Given the description of an element on the screen output the (x, y) to click on. 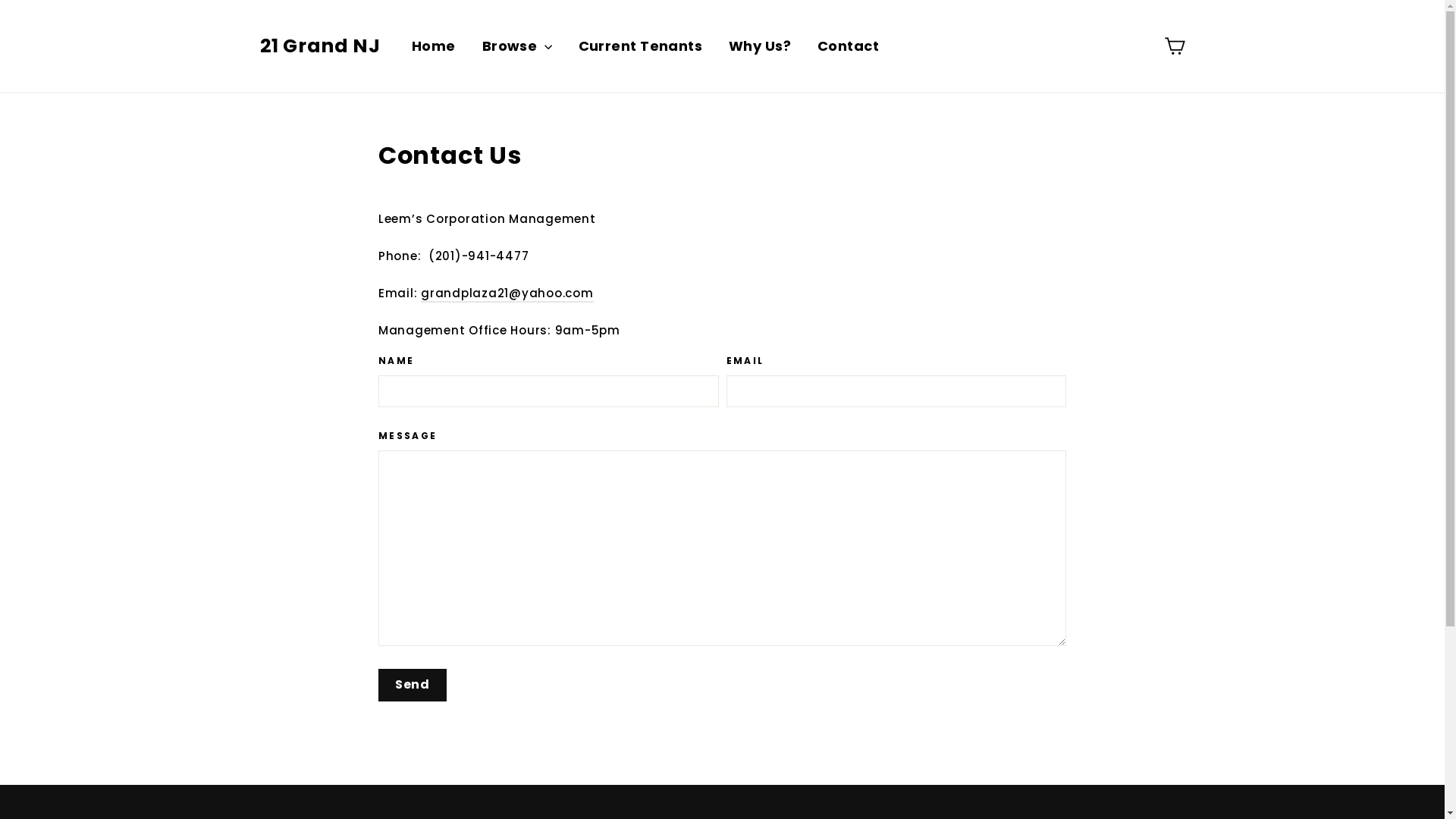
Why Us? Element type: text (759, 46)
Current Tenants Element type: text (640, 46)
21 Grand NJ Element type: text (319, 45)
Browse Element type: text (516, 46)
Home Element type: text (433, 46)
grandplaza21@yahoo.com Element type: text (506, 293)
Skip to content Element type: text (0, 0)
Contact Element type: text (848, 46)
Send Element type: text (412, 684)
